Given the description of an element on the screen output the (x, y) to click on. 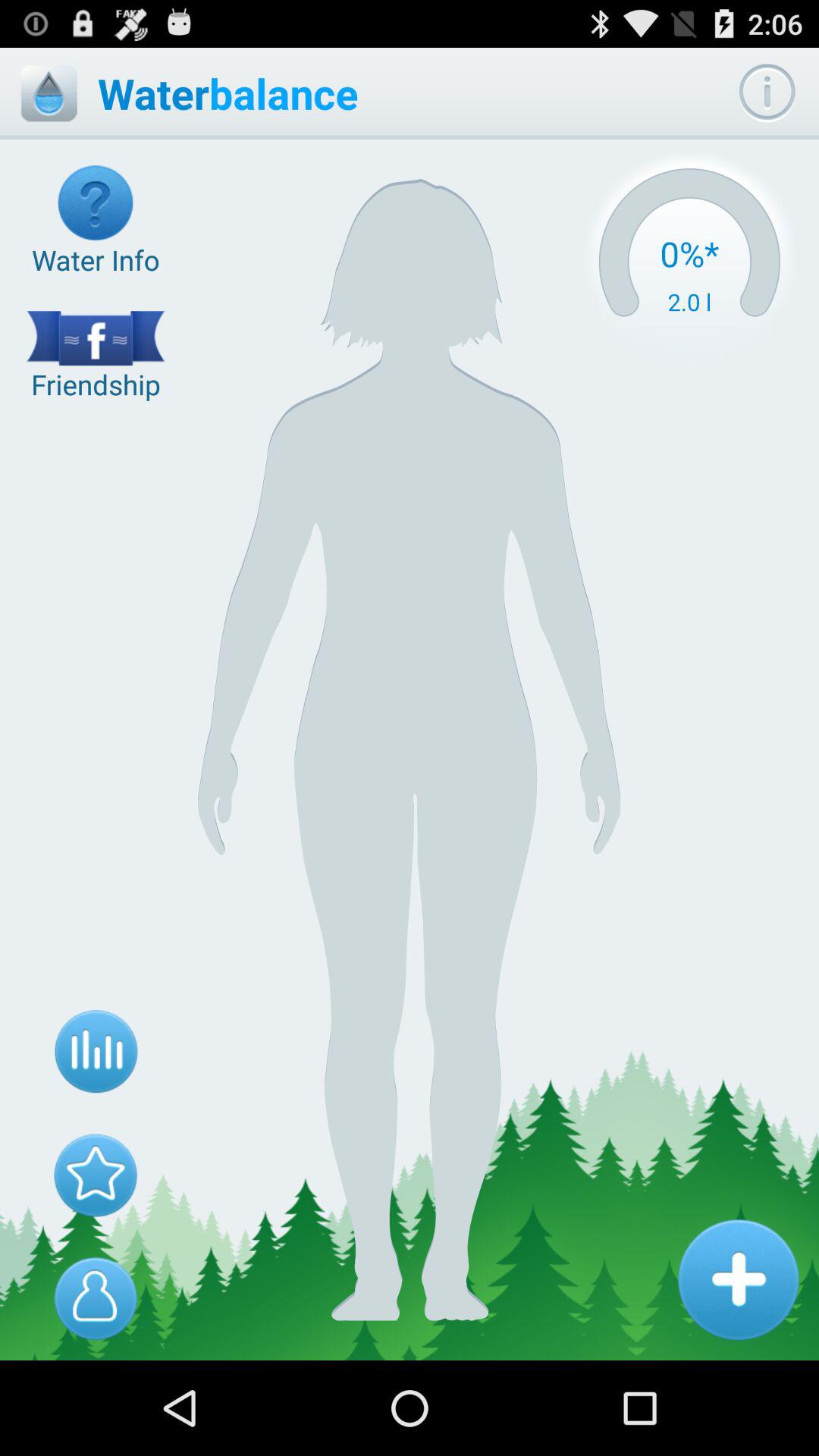
button to go to profile (95, 1298)
